Given the description of an element on the screen output the (x, y) to click on. 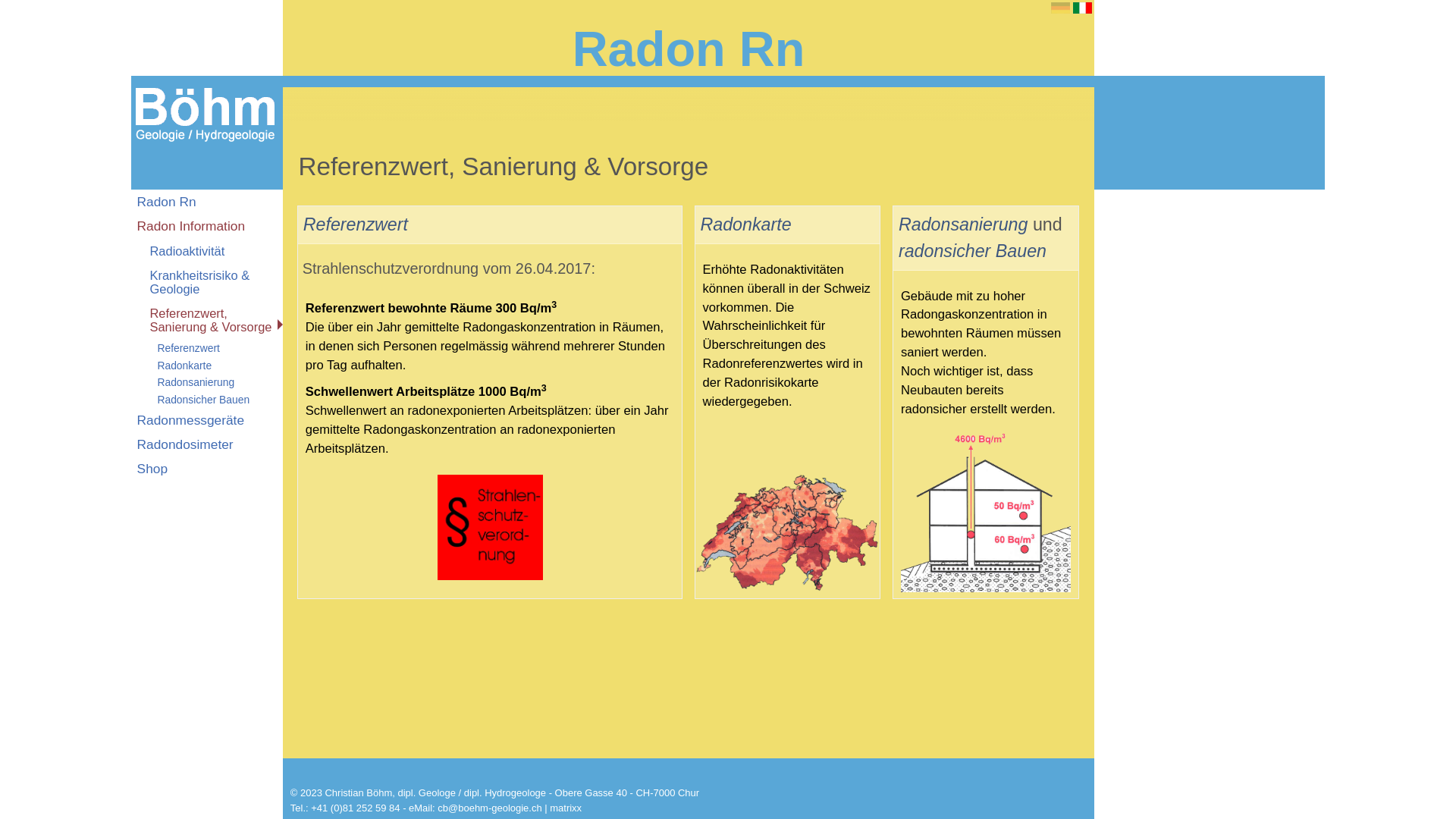
Radonkarte Element type: text (745, 224)
Radonsanierung Element type: text (206, 382)
Radon Rn Element type: text (688, 48)
Radonsanierung Element type: text (963, 224)
Shop Element type: text (206, 468)
matrixx Element type: text (565, 807)
Radondosimeter Element type: text (206, 444)
radonsicher Bauen Element type: text (972, 250)
Radon Information Element type: text (206, 225)
Referenzwert, Sanierung & Vorsorge Element type: text (206, 320)
cb@boehm-geologie.ch Element type: text (489, 807)
Radonkarte Element type: text (206, 365)
Radon Rn Element type: text (206, 201)
Referenzwert Element type: text (206, 348)
Radonsicher Bauen Element type: text (206, 399)
Krankheitsrisiko & Geologie Element type: text (206, 282)
Referenzwert Element type: text (355, 224)
